Given the description of an element on the screen output the (x, y) to click on. 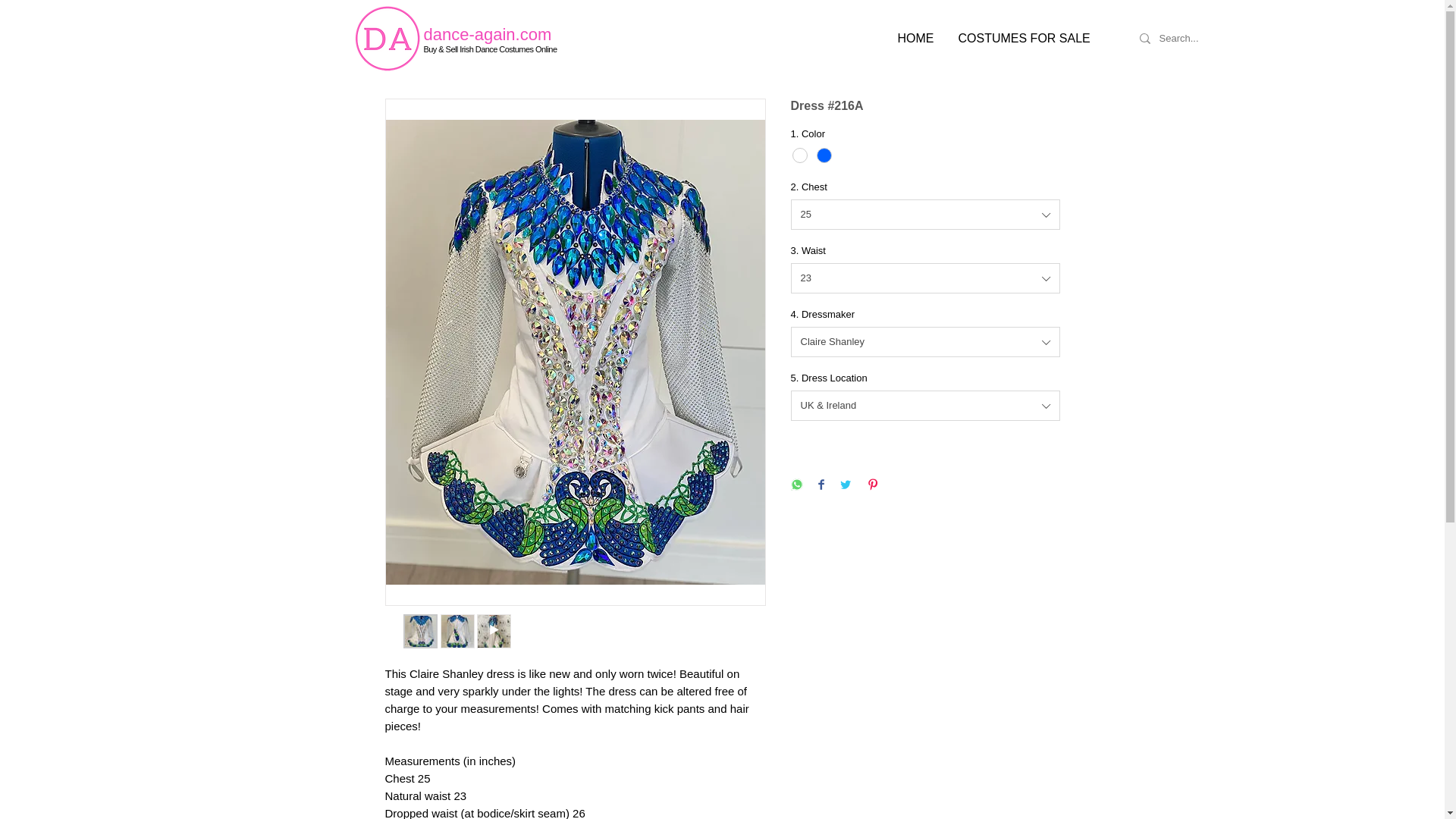
23 (924, 277)
Claire Shanley (924, 341)
HOME (915, 38)
25 (924, 214)
